Given the description of an element on the screen output the (x, y) to click on. 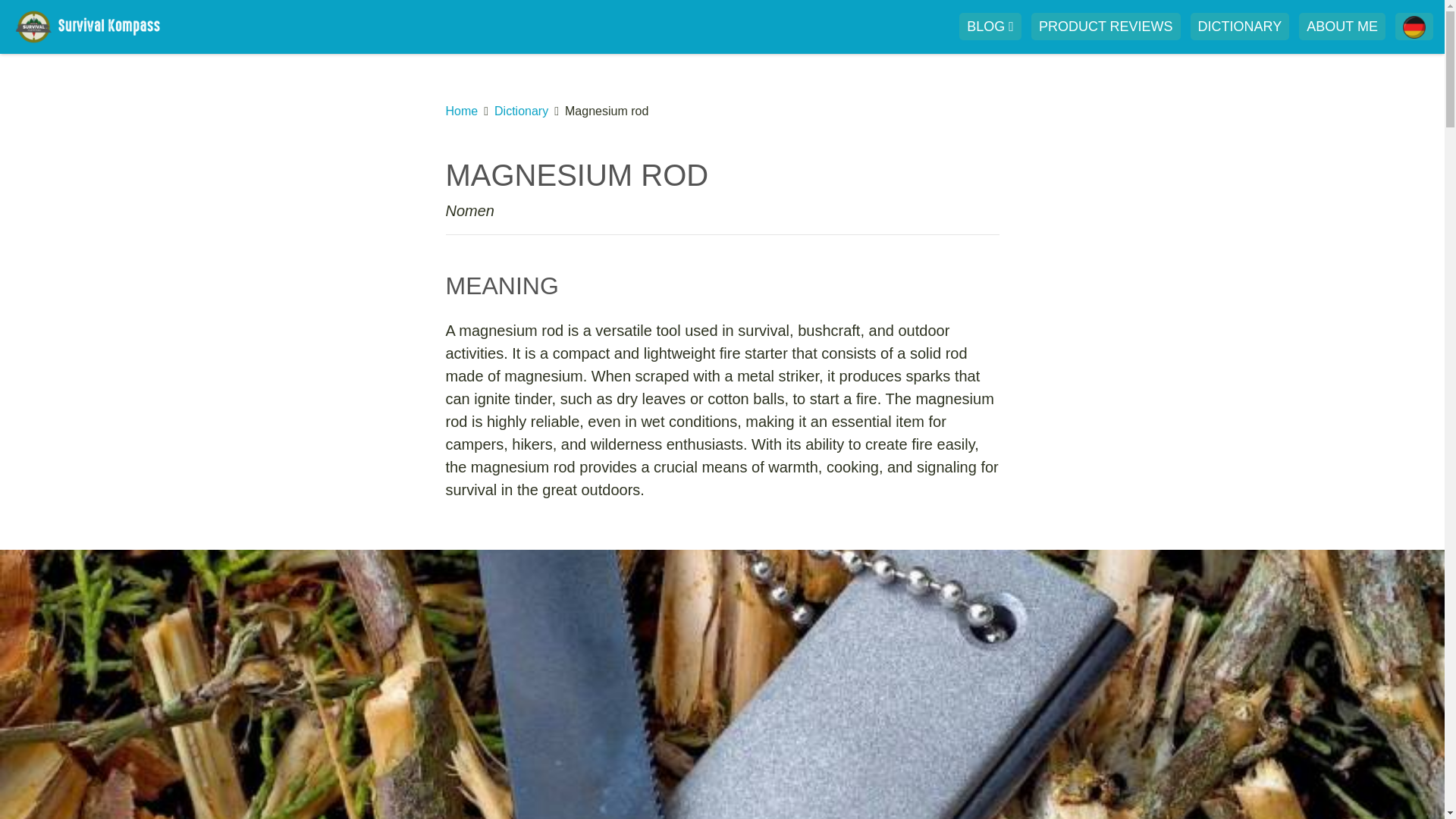
Outdoor Gear Product Reviews (1105, 26)
Dictionary (521, 110)
About me (1342, 26)
Startsite (98, 25)
BLOG (990, 26)
Home (462, 110)
PRODUCT REVIEWS (1105, 26)
Survival-Kompass.de Startsite (98, 26)
Survival Outdoor Dictionary (1240, 26)
DICTIONARY (1240, 26)
